Given the description of an element on the screen output the (x, y) to click on. 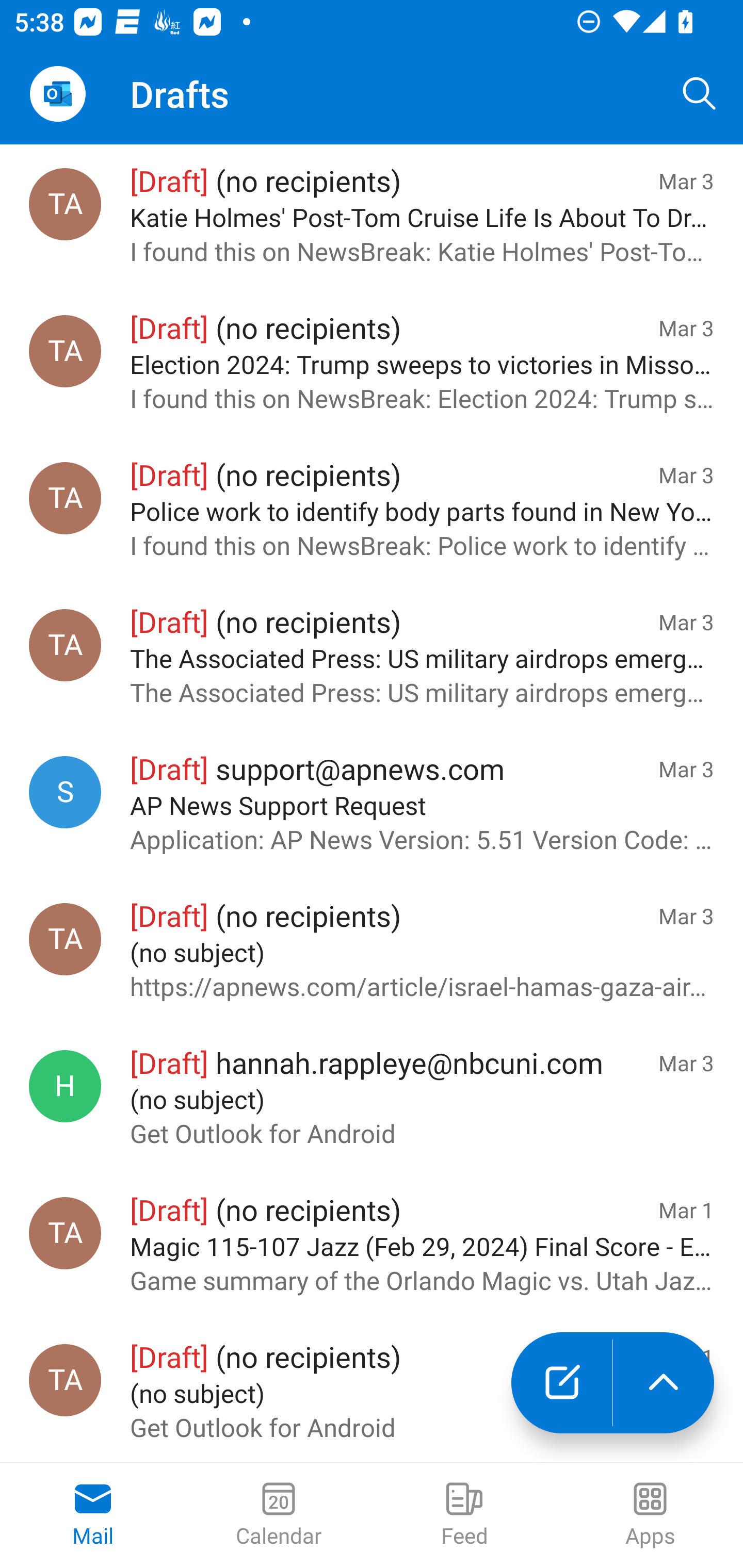
Search, ,  (699, 93)
Open Navigation Drawer (57, 94)
Test Appium, testappium002@outlook.com (64, 203)
Test Appium, testappium002@outlook.com (64, 351)
Test Appium, testappium002@outlook.com (64, 498)
Test Appium, testappium002@outlook.com (64, 645)
support@apnews.com (64, 791)
Test Appium, testappium002@outlook.com (64, 939)
hannah.rappleye@nbcuni.com (64, 1086)
Test Appium, testappium002@outlook.com (64, 1233)
New mail (561, 1382)
launch the extended action menu (663, 1382)
Test Appium, testappium002@outlook.com (64, 1379)
Calendar (278, 1515)
Feed (464, 1515)
Apps (650, 1515)
